Given the description of an element on the screen output the (x, y) to click on. 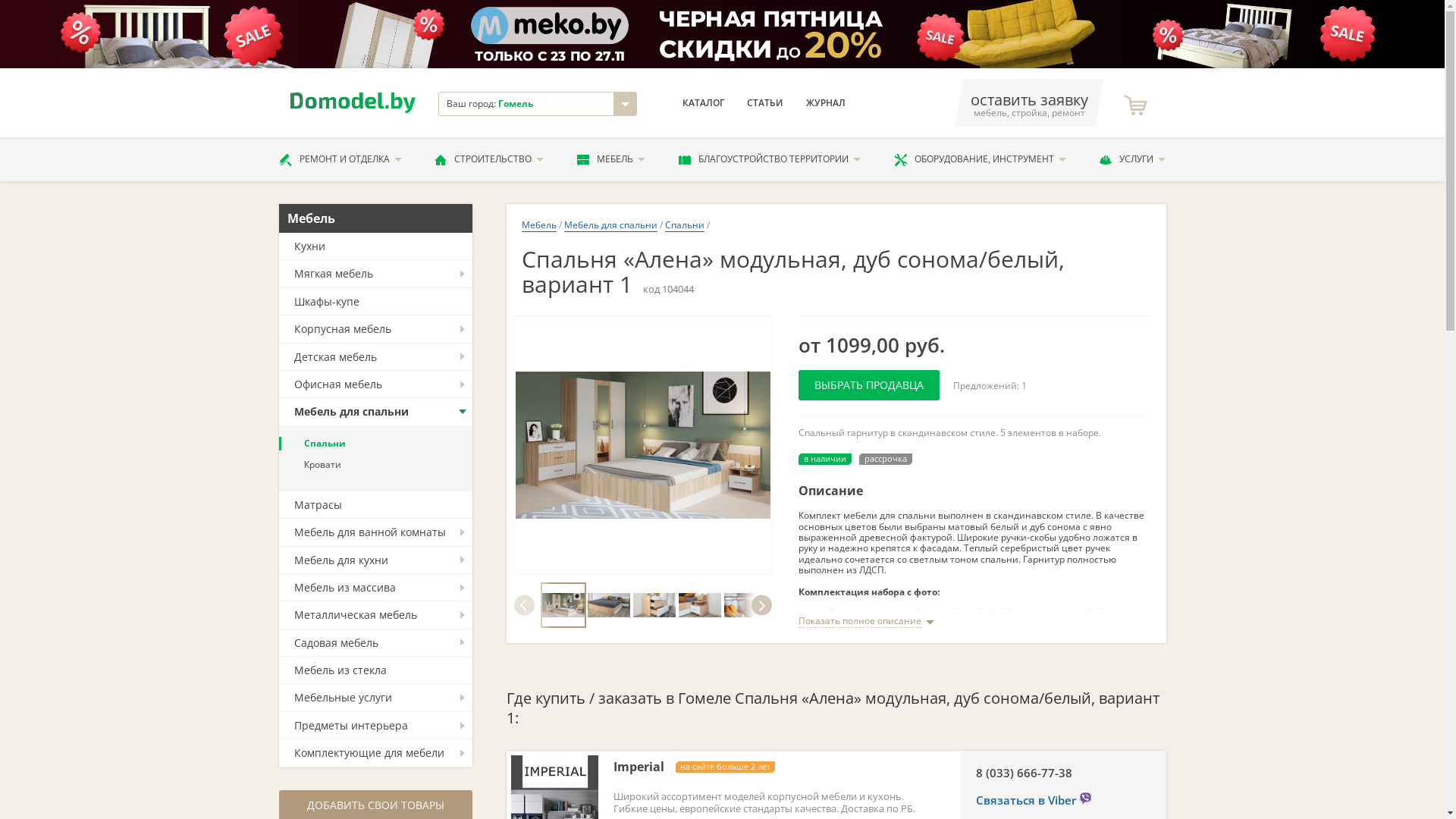
Imperial Element type: text (637, 767)
